Given the description of an element on the screen output the (x, y) to click on. 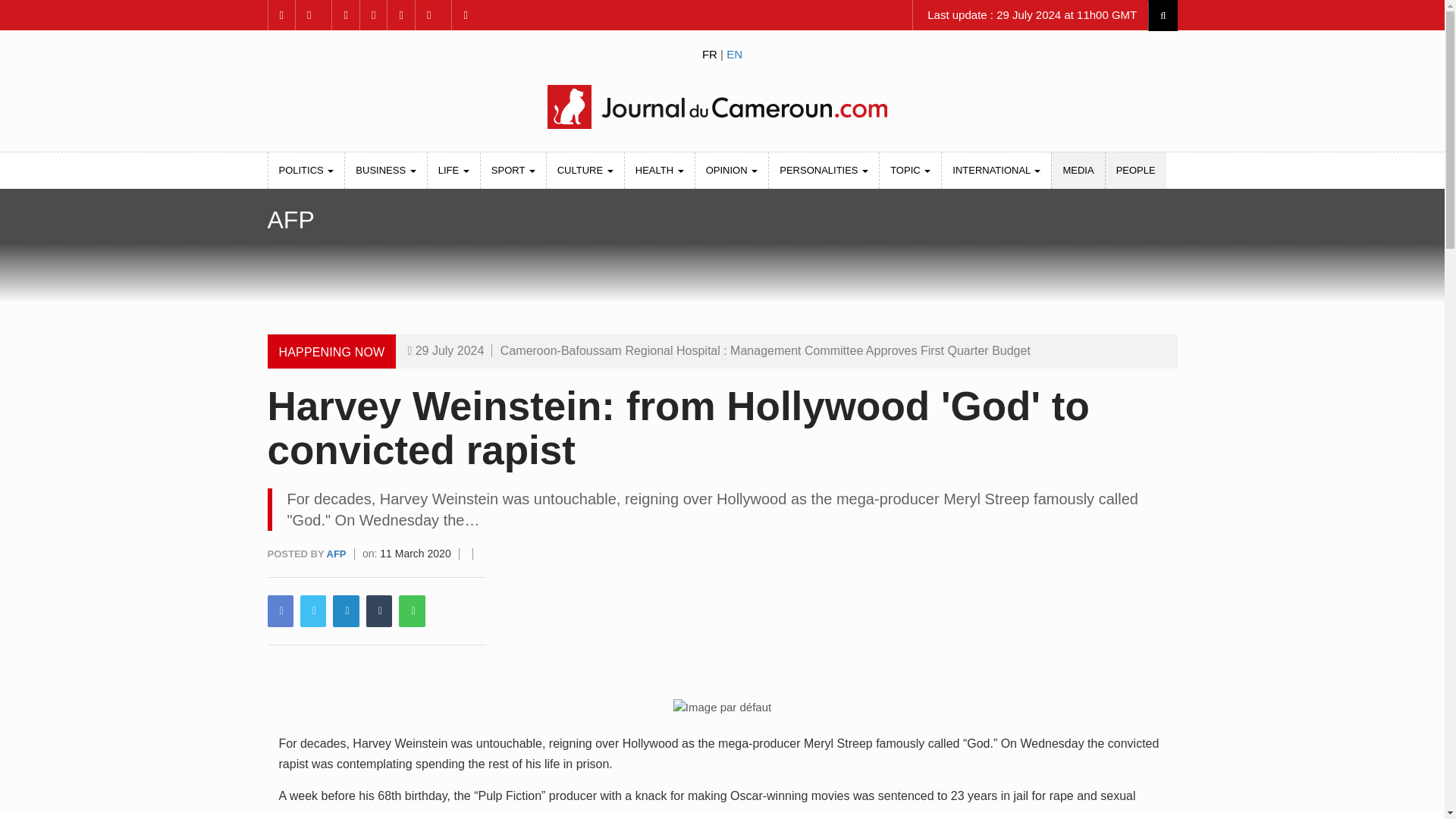
JDC (721, 106)
FR (709, 53)
EN (734, 53)
BUSINESS (385, 170)
Last update : 29 July 2024 at 11h00 GMT (1030, 15)
POLITICS (306, 170)
